Given the description of an element on the screen output the (x, y) to click on. 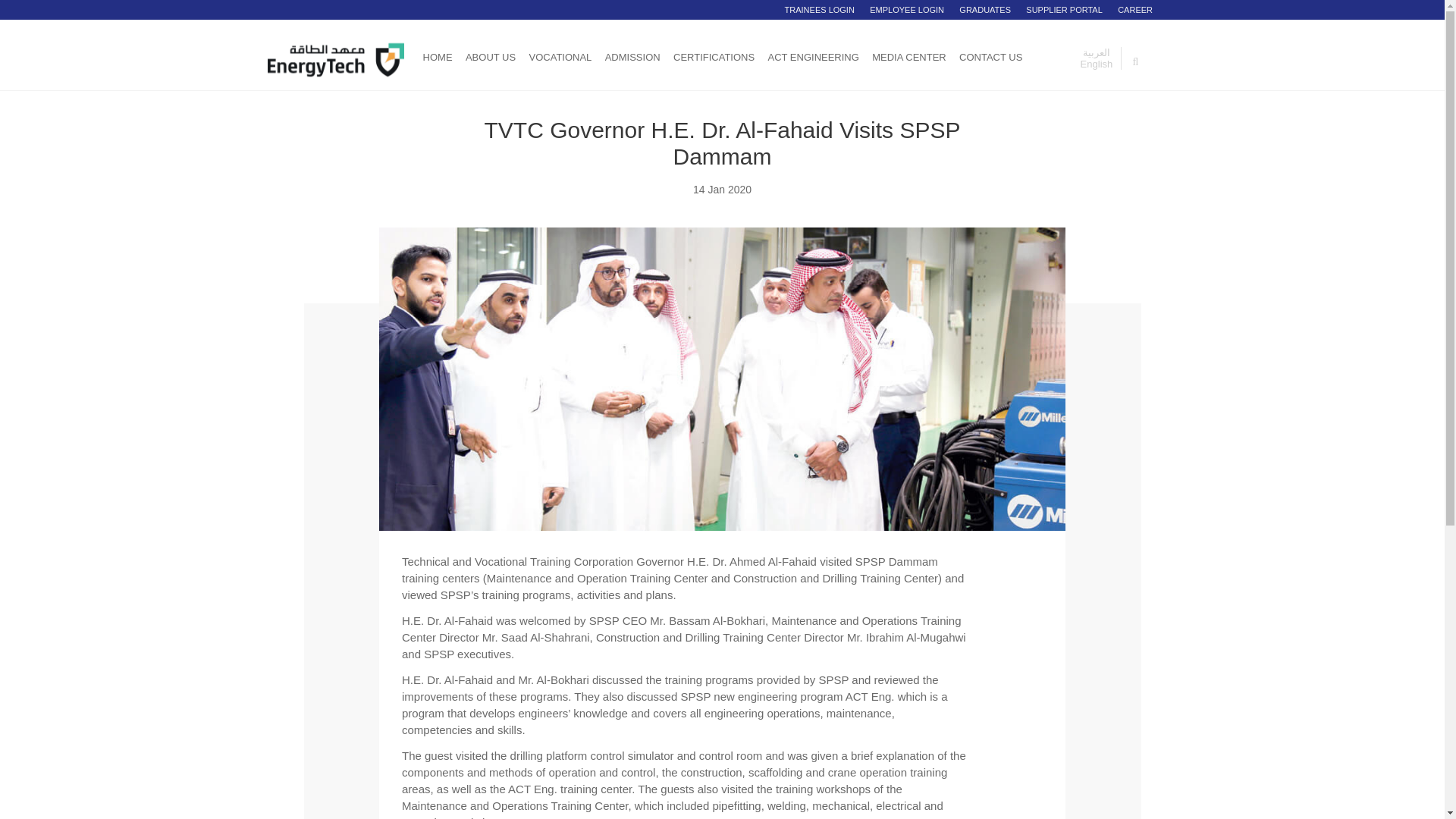
ABOUT US (489, 57)
ACT ENGINEERING (813, 54)
CERTIFICATIONS (713, 54)
GRADUATES (984, 9)
ADMISSION (631, 54)
CONTACT US (990, 54)
MEDIA CENTER (909, 54)
HOME (436, 70)
TRAINEES LOGIN (819, 9)
EMPLOYEE LOGIN (906, 9)
VOCATIONAL (559, 54)
CAREER (1135, 9)
SUPPLIER PORTAL (1064, 9)
